Given the description of an element on the screen output the (x, y) to click on. 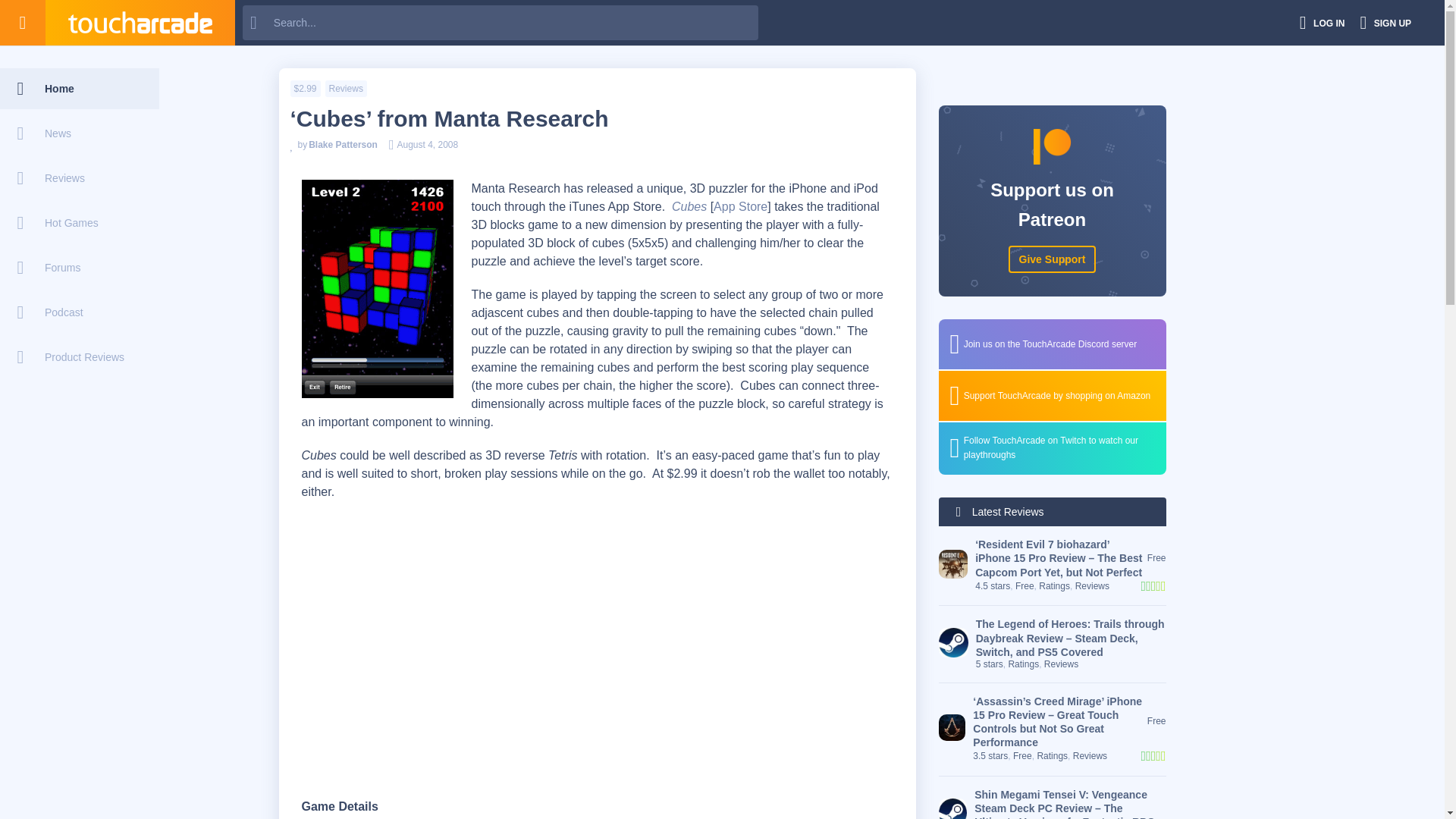
Home (79, 87)
Reviews (79, 178)
Cubes screen (376, 288)
Forums (79, 267)
Product Reviews (79, 356)
Hot Games (79, 222)
LOG IN (1322, 22)
Podcast (79, 311)
SIGN UP (1385, 22)
News (79, 133)
Enter your search and hit enter (500, 22)
